Given the description of an element on the screen output the (x, y) to click on. 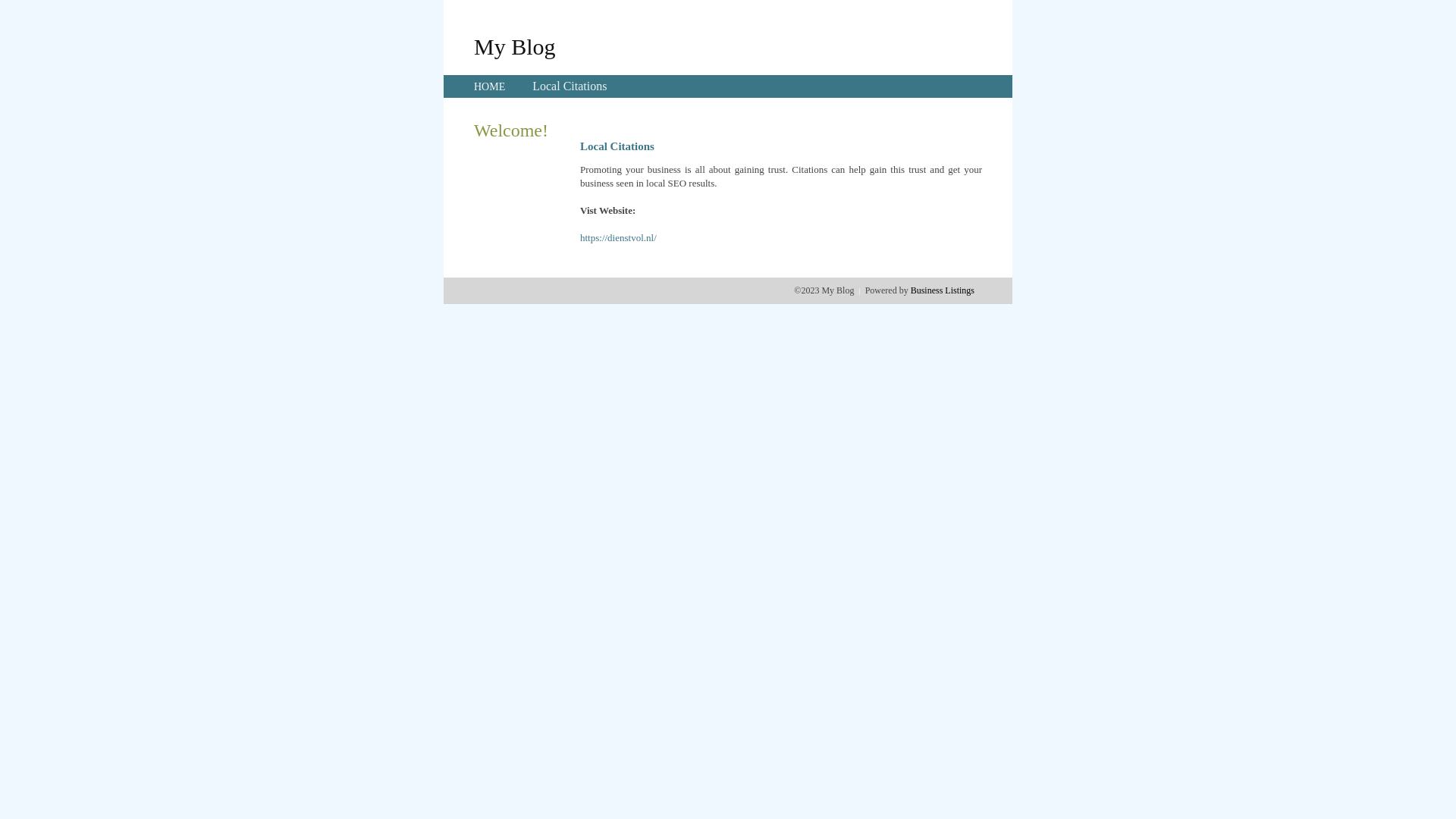
Business Listings Element type: text (942, 290)
https://dienstvol.nl/ Element type: text (618, 237)
HOME Element type: text (489, 86)
My Blog Element type: text (514, 46)
Local Citations Element type: text (569, 85)
